Given the description of an element on the screen output the (x, y) to click on. 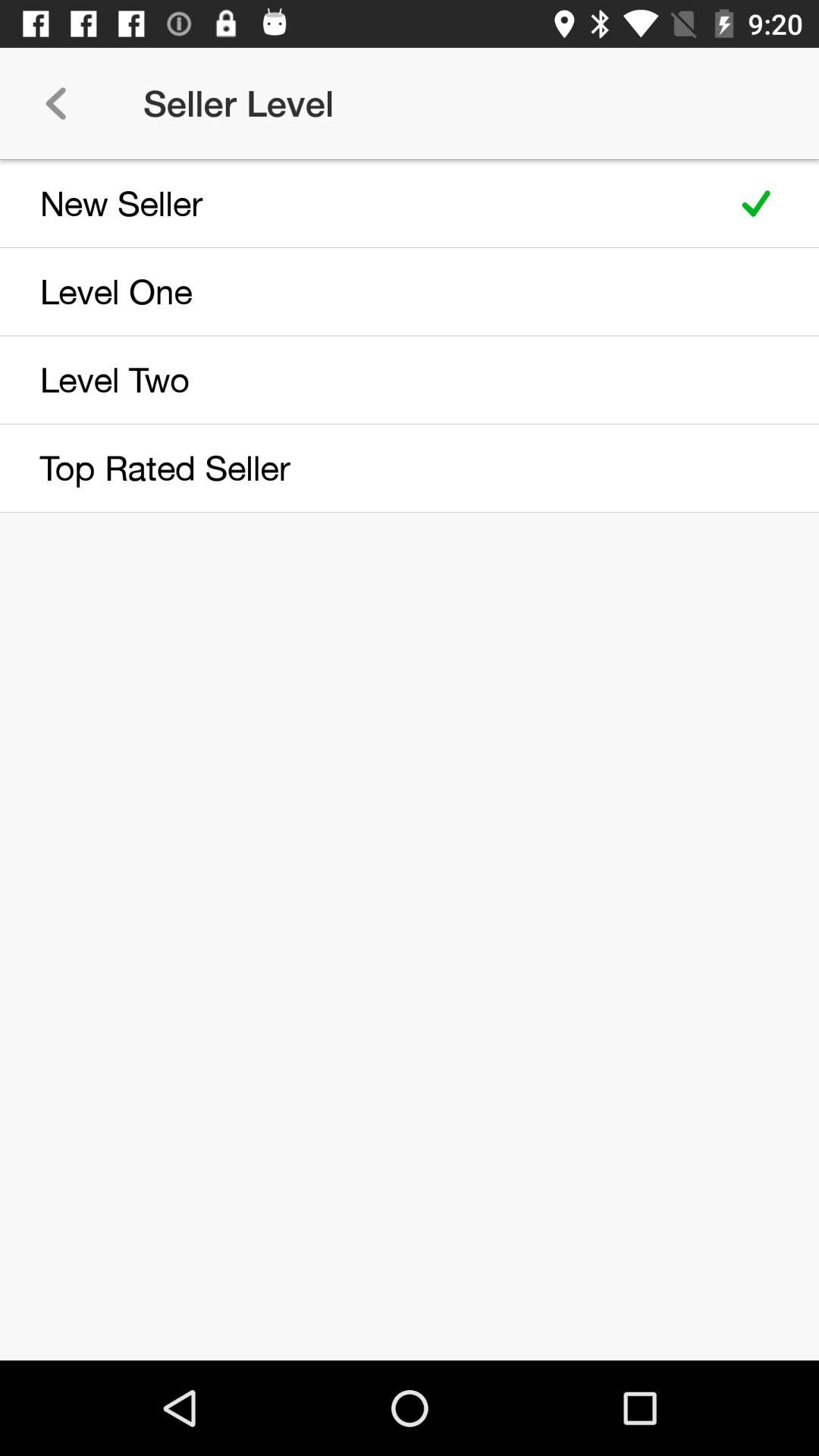
swipe until level two (358, 379)
